Given the description of an element on the screen output the (x, y) to click on. 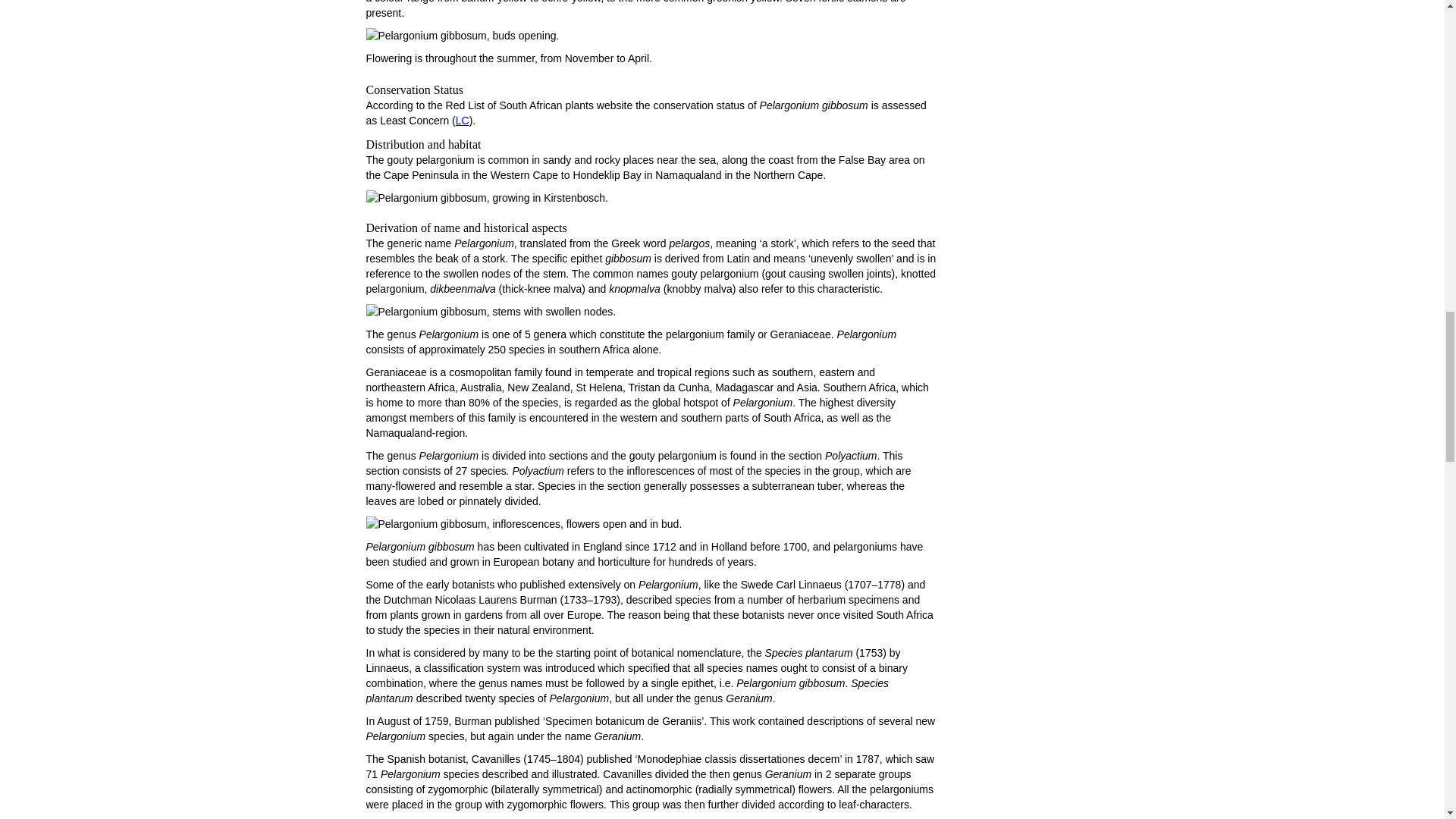
Pelargonium gibbosum, growing in Kirstenbosch. (486, 197)
Pelargonium gibbosum, stems with swollen nodes. (490, 311)
Pelargonium gibbosum, buds opening. (462, 35)
LC (461, 120)
